Given the description of an element on the screen output the (x, y) to click on. 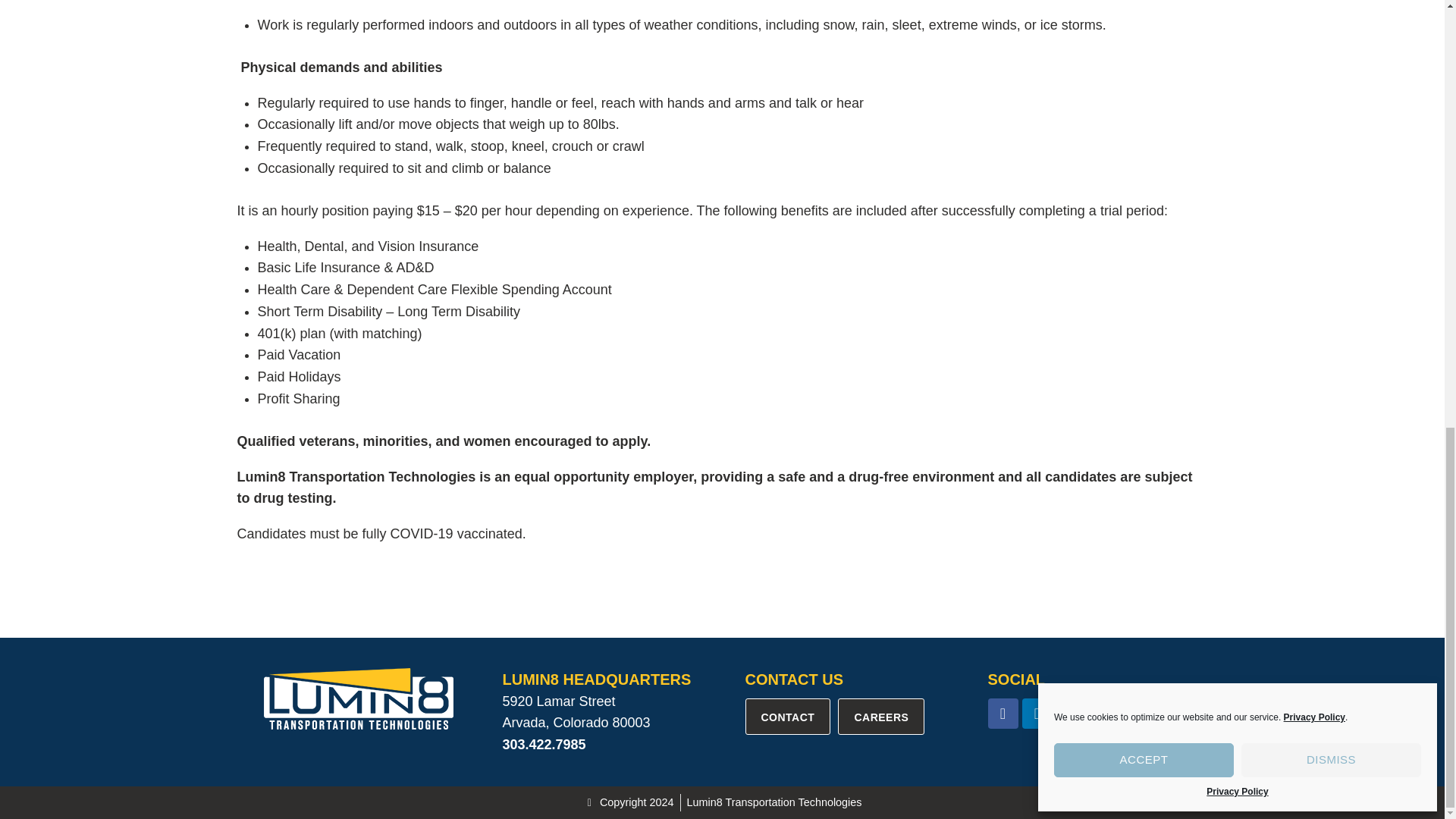
303.422.7985 (543, 744)
CAREERS (881, 716)
CONTACT (786, 716)
